Given the description of an element on the screen output the (x, y) to click on. 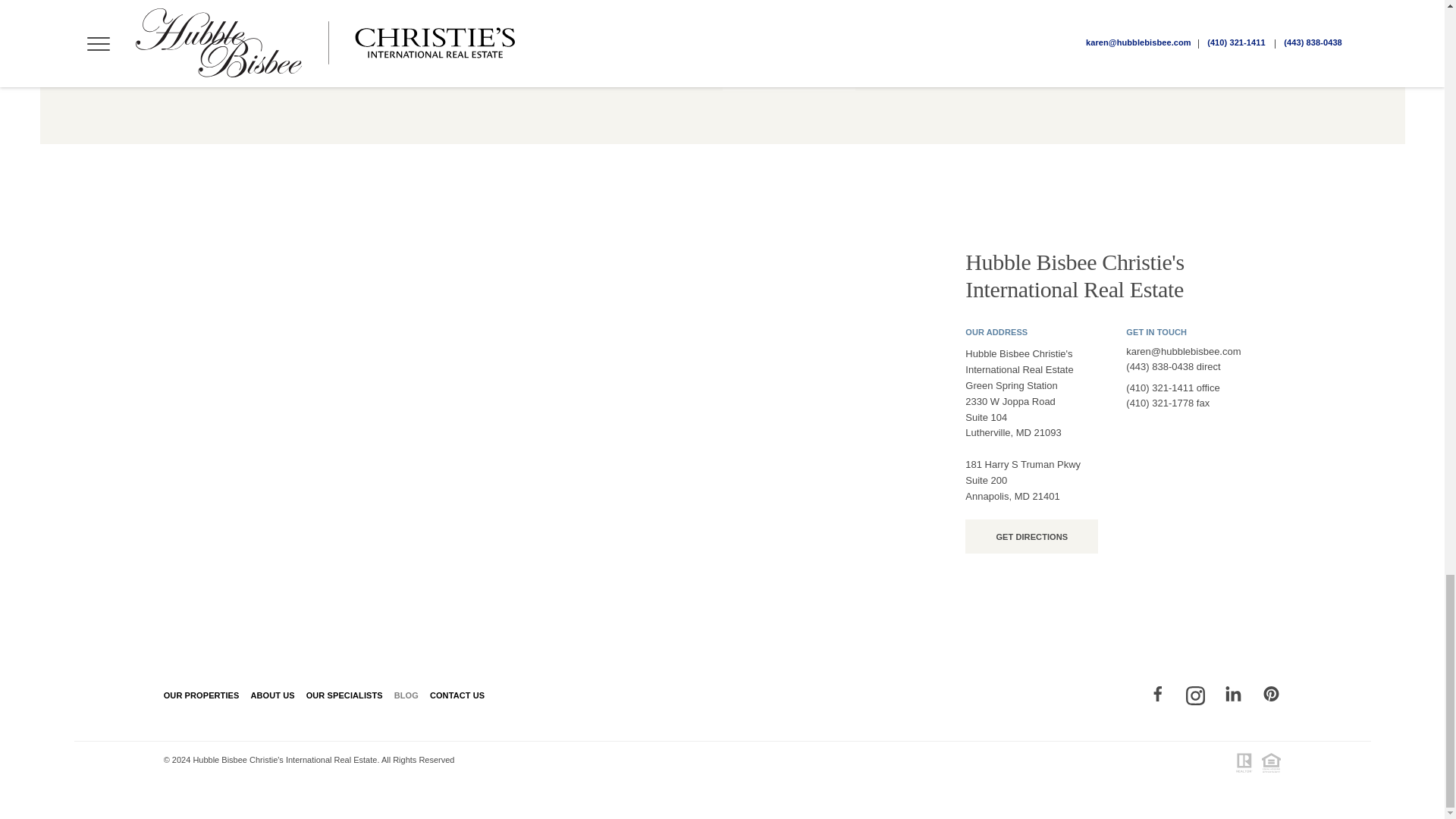
CONTACT US (462, 695)
Subscribe (788, 69)
OUR SPECIALISTS (349, 695)
GET DIRECTIONS (1031, 536)
ABOUT US (277, 695)
BLOG (411, 695)
OUR PROPERTIES (206, 695)
Fill 1 Created with Sketch. (1271, 693)
Subscribe (788, 69)
